Given the description of an element on the screen output the (x, y) to click on. 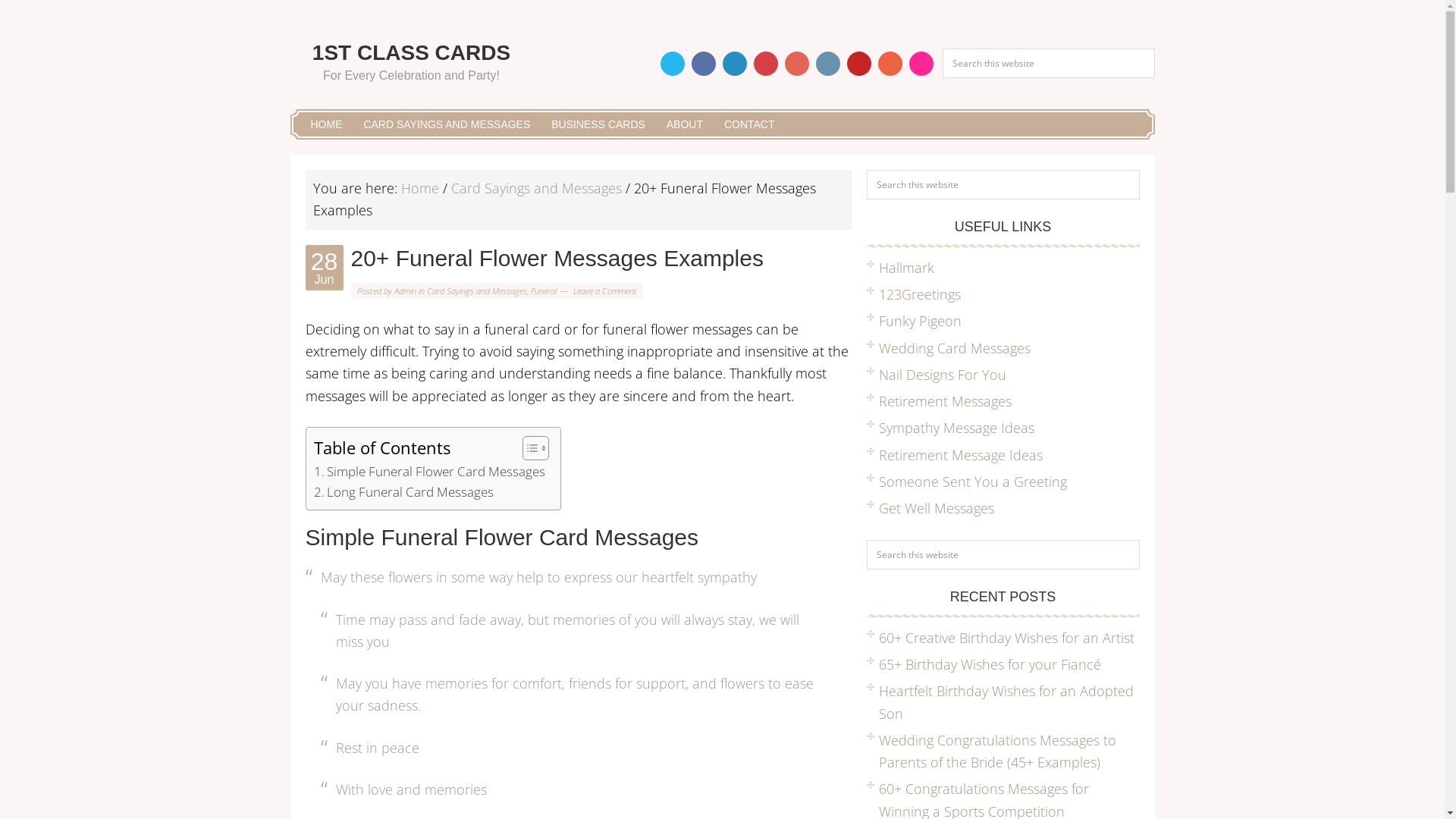
LinkedIn Element type: hover (733, 63)
Pinterest Element type: hover (765, 63)
Search Element type: text (1154, 47)
123Greetings Element type: text (919, 294)
Google Plus Element type: hover (796, 63)
ABOUT Element type: text (684, 124)
Heartfelt Birthday Wishes for an Adopted Son Element type: text (1005, 701)
CARD SAYINGS AND MESSAGES Element type: text (446, 124)
BUSINESS CARDS Element type: text (598, 124)
Flickr Element type: hover (920, 63)
Wedding Card Messages Element type: text (953, 347)
Youtube Element type: hover (858, 63)
60+ Creative Birthday Wishes for an Artist Element type: text (1005, 637)
Home Element type: text (419, 187)
Funeral Element type: text (543, 290)
Simple Funeral Flower Card Messages Element type: text (429, 471)
Leave a Comment Element type: text (605, 290)
Long Funeral Card Messages Element type: text (403, 491)
CONTACT Element type: text (749, 124)
Sympathy Message Ideas Element type: text (955, 427)
HOME Element type: text (326, 124)
1ST CLASS CARDS Element type: text (411, 52)
Facebook Element type: hover (703, 63)
Hallmark Element type: text (905, 267)
Admin Element type: text (405, 290)
Nail Designs For You Element type: text (941, 374)
Search Element type: text (1139, 169)
Funky Pigeon Element type: text (919, 320)
Retirement Message Ideas Element type: text (959, 454)
Get Well Messages Element type: text (935, 507)
Stumbleupon Element type: hover (890, 63)
Retirement Messages Element type: text (944, 401)
Card Sayings and Messages Element type: text (476, 290)
Search Element type: text (1139, 539)
Card Sayings and Messages Element type: text (535, 187)
Twitter Element type: hover (671, 63)
Someone Sent You a Greeting Element type: text (972, 481)
Instagram Element type: hover (827, 63)
